Given the description of an element on the screen output the (x, y) to click on. 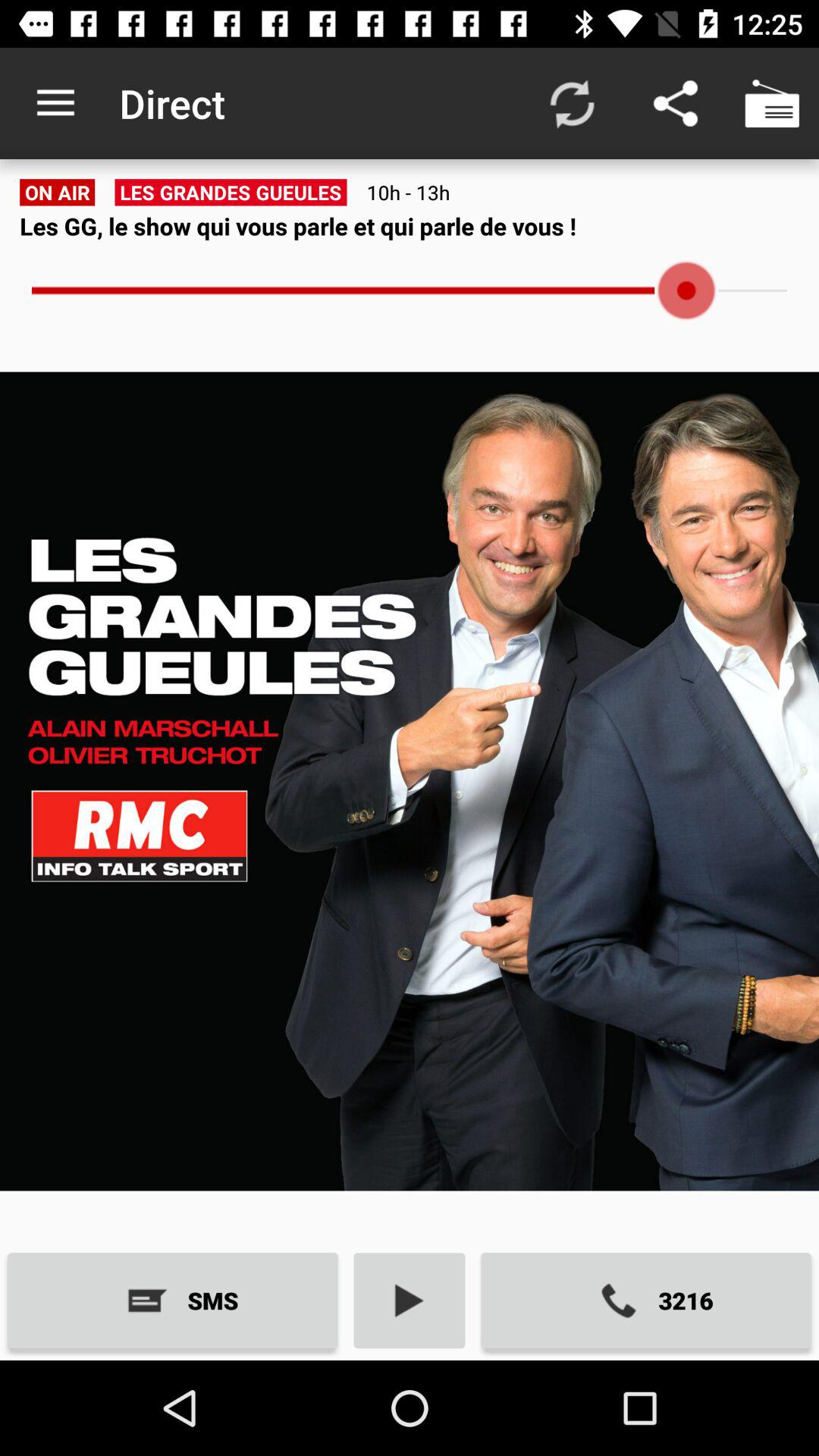
launch the item to the right of the sms (409, 1300)
